Given the description of an element on the screen output the (x, y) to click on. 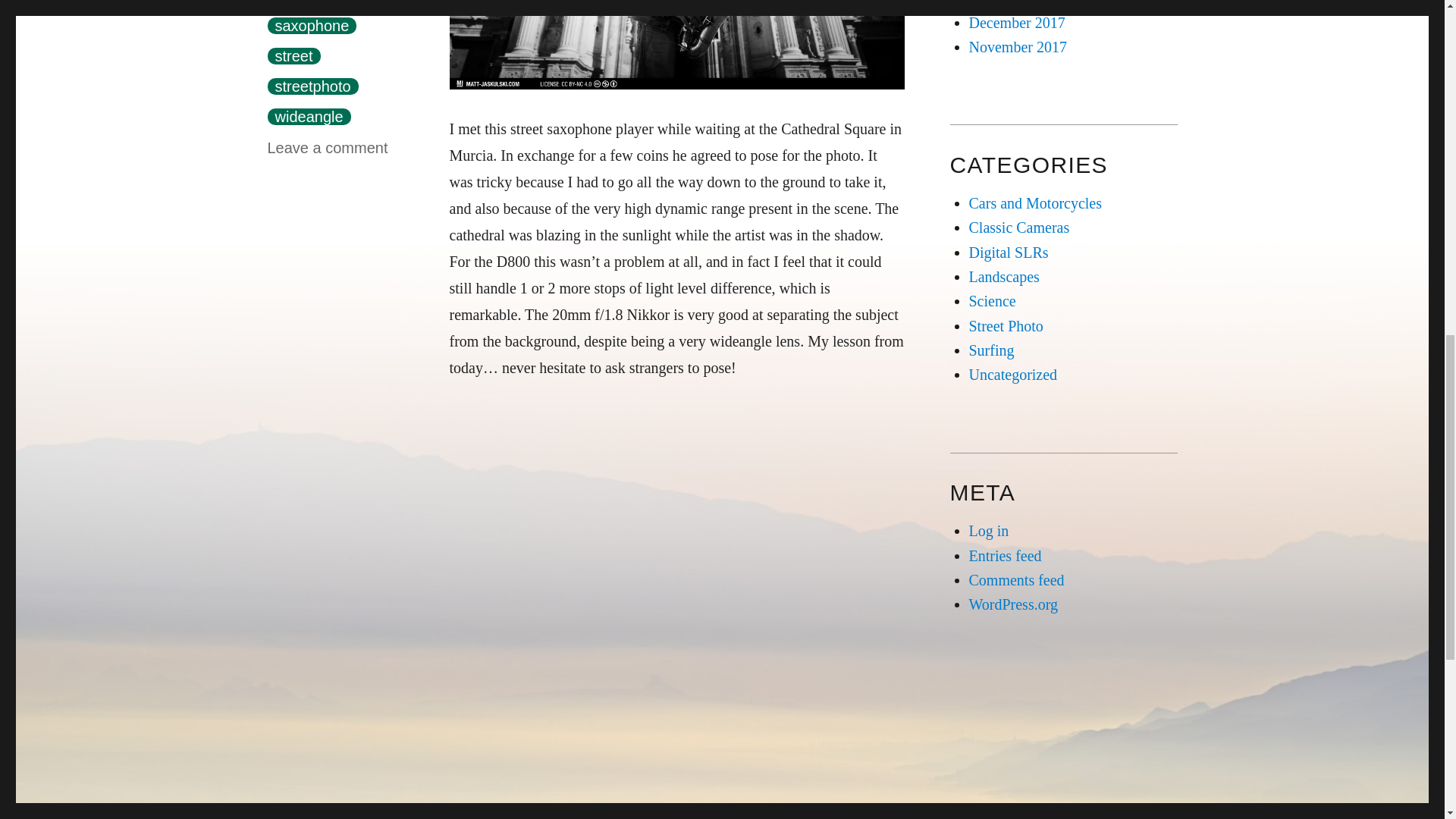
saxophone (311, 25)
Classic Cameras (1019, 227)
Entries feed (1005, 555)
wideangle (308, 116)
street (293, 55)
Cars and Motorcycles (1035, 202)
Landscapes (1004, 276)
Digital SLRs (1008, 252)
Science (992, 300)
Nikon (358, 2)
